Given the description of an element on the screen output the (x, y) to click on. 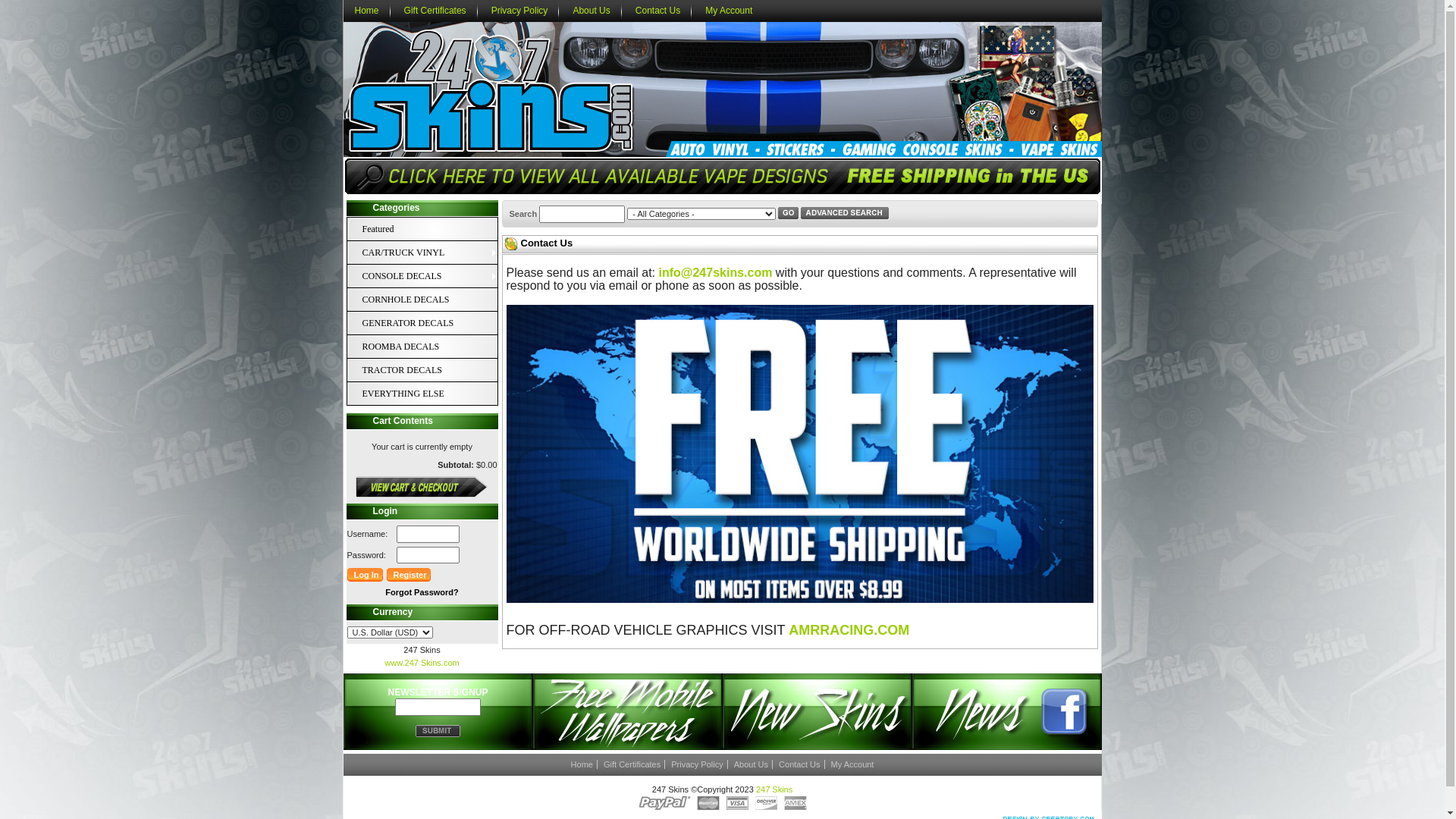
Contact Us Element type: text (657, 10)
About Us Element type: text (751, 763)
Gift Certificates Element type: text (434, 10)
TRACTOR DECALS Element type: text (429, 369)
CORNHOLE DECALS Element type: text (414, 299)
Privacy Policy Element type: text (697, 763)
Home Element type: text (582, 763)
Log In Element type: text (365, 574)
CORNHOLE DECALS Element type: text (429, 299)
ROOMBA DECALS Element type: text (429, 346)
My Account Element type: text (852, 763)
247 Skins Element type: text (774, 788)
CONSOLE DECALS Element type: text (414, 275)
About Us Element type: text (591, 10)
Featured Element type: text (414, 228)
GENERATOR DECALS Element type: text (414, 322)
My Account Element type: text (728, 10)
AMRRACING.COM Element type: text (848, 631)
Register Element type: text (408, 574)
Featured Element type: text (429, 228)
Gift Certificates Element type: text (632, 763)
Forgot Password? Element type: text (421, 591)
EVERYTHING ELSE Element type: text (429, 393)
info@247skins.com Element type: text (715, 272)
GENERATOR DECALS Element type: text (429, 322)
CAR/TRUCK VINYL Element type: text (414, 252)
EVERYTHING ELSE Element type: text (414, 393)
CAR/TRUCK VINYL Element type: text (429, 252)
TRACTOR DECALS Element type: text (414, 369)
ROOMBA DECALS Element type: text (414, 346)
Contact Us Element type: text (799, 763)
Home Element type: text (365, 10)
www.247 Skins.com Element type: text (421, 662)
Privacy Policy Element type: text (519, 10)
CONSOLE DECALS Element type: text (429, 275)
